Given the description of an element on the screen output the (x, y) to click on. 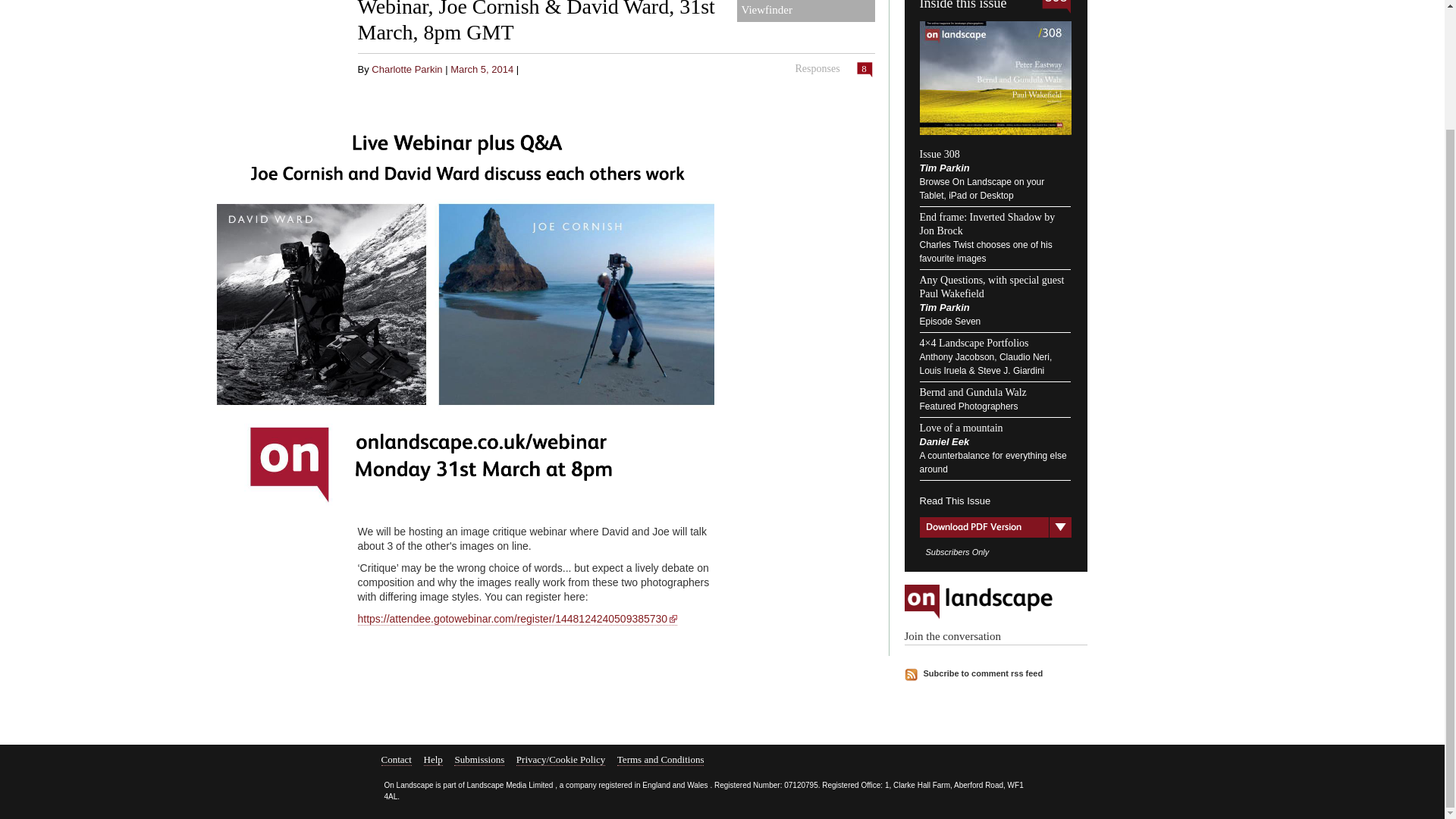
End frame: Inverted Shadow by Jon Brock (986, 223)
8:11 pm (481, 69)
Featured Photographers (967, 406)
Charles Twist chooses one of his favourite images (984, 251)
Issue 308 (938, 153)
Tim Parkin (943, 167)
Bernd and Gundula Walz (972, 392)
Love of a mountain (960, 428)
Posts by Charlotte Parkin (406, 69)
Tim Parkin (943, 307)
Read This Issue (994, 493)
A counterbalance for everything else around (991, 462)
Daniel Eek (943, 441)
Browse On Landscape on your Tablet, iPad or Desktop (980, 188)
Episode Seven (948, 321)
